Given the description of an element on the screen output the (x, y) to click on. 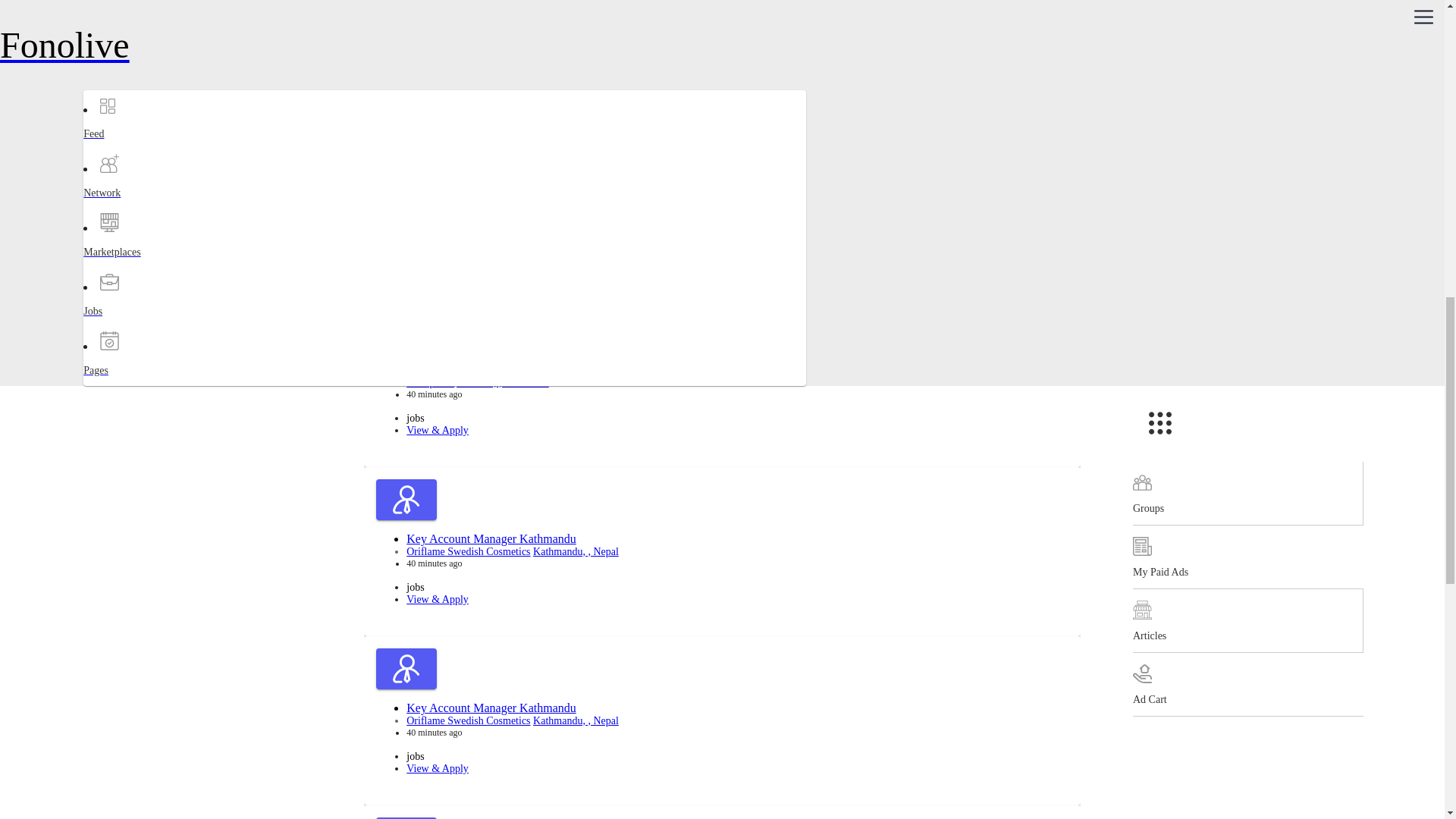
Daraz (418, 43)
Kathmandu, , Nepal (476, 43)
Michael Page (435, 213)
